Given the description of an element on the screen output the (x, y) to click on. 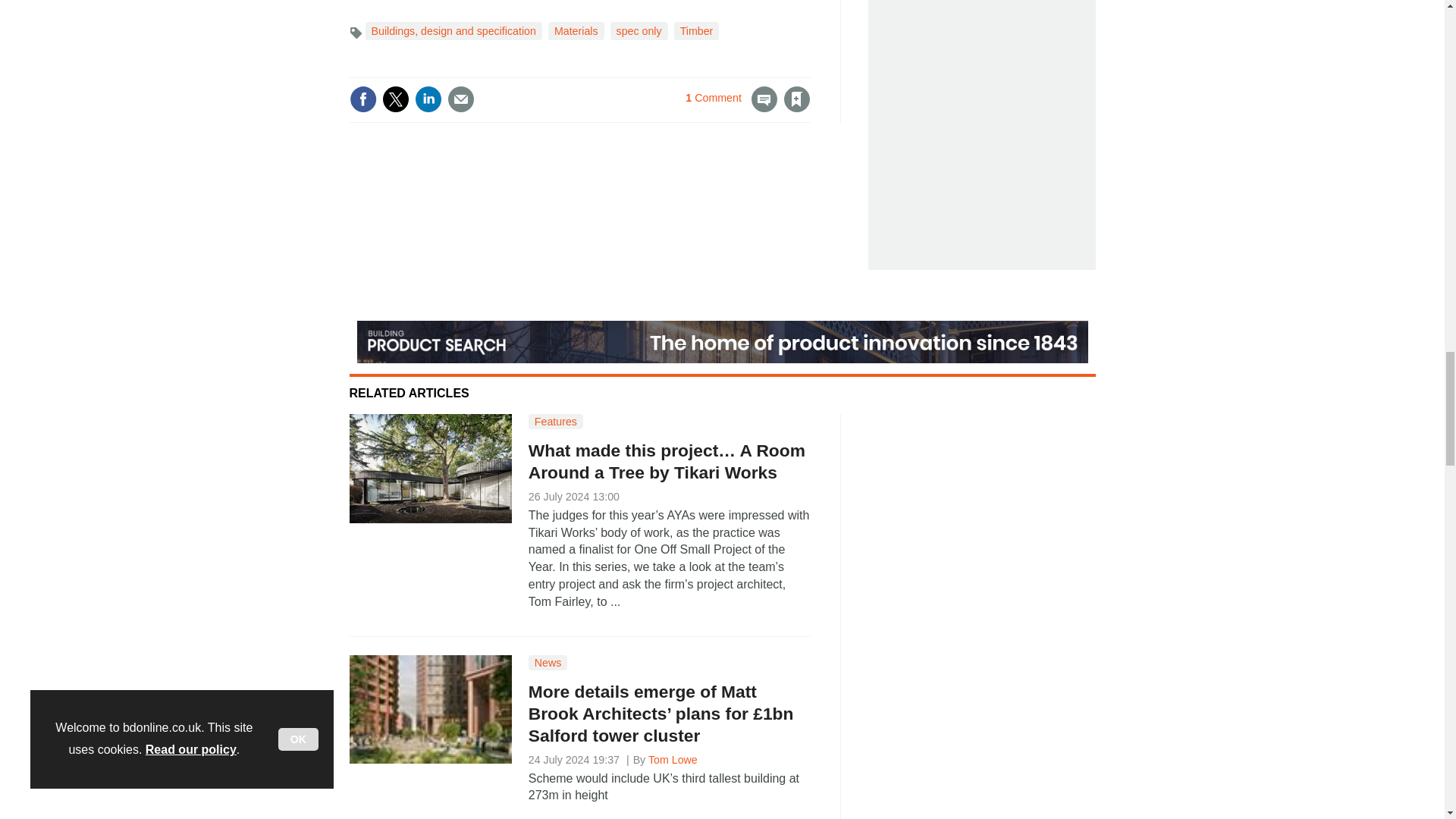
Email this article (460, 99)
Share this on Linked in (427, 99)
3rd party ad content (985, 122)
Share this on Twitter (395, 99)
Share this on Facebook (362, 99)
1 Comment (731, 108)
